Given the description of an element on the screen output the (x, y) to click on. 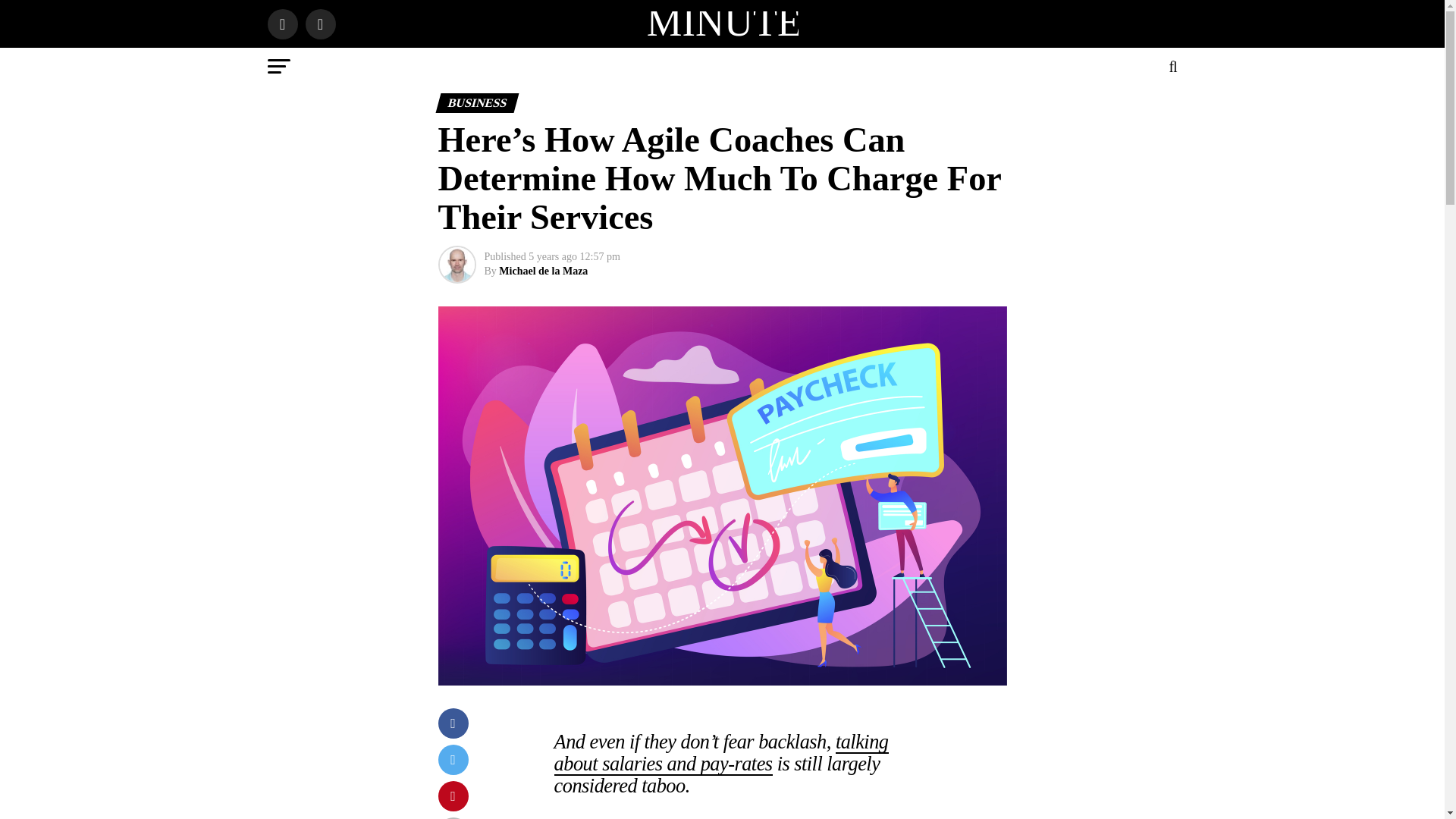
talking about salaries and pay-rates (721, 752)
Michael de la Maza (543, 270)
Posts by Michael de la Maza (543, 270)
